Given the description of an element on the screen output the (x, y) to click on. 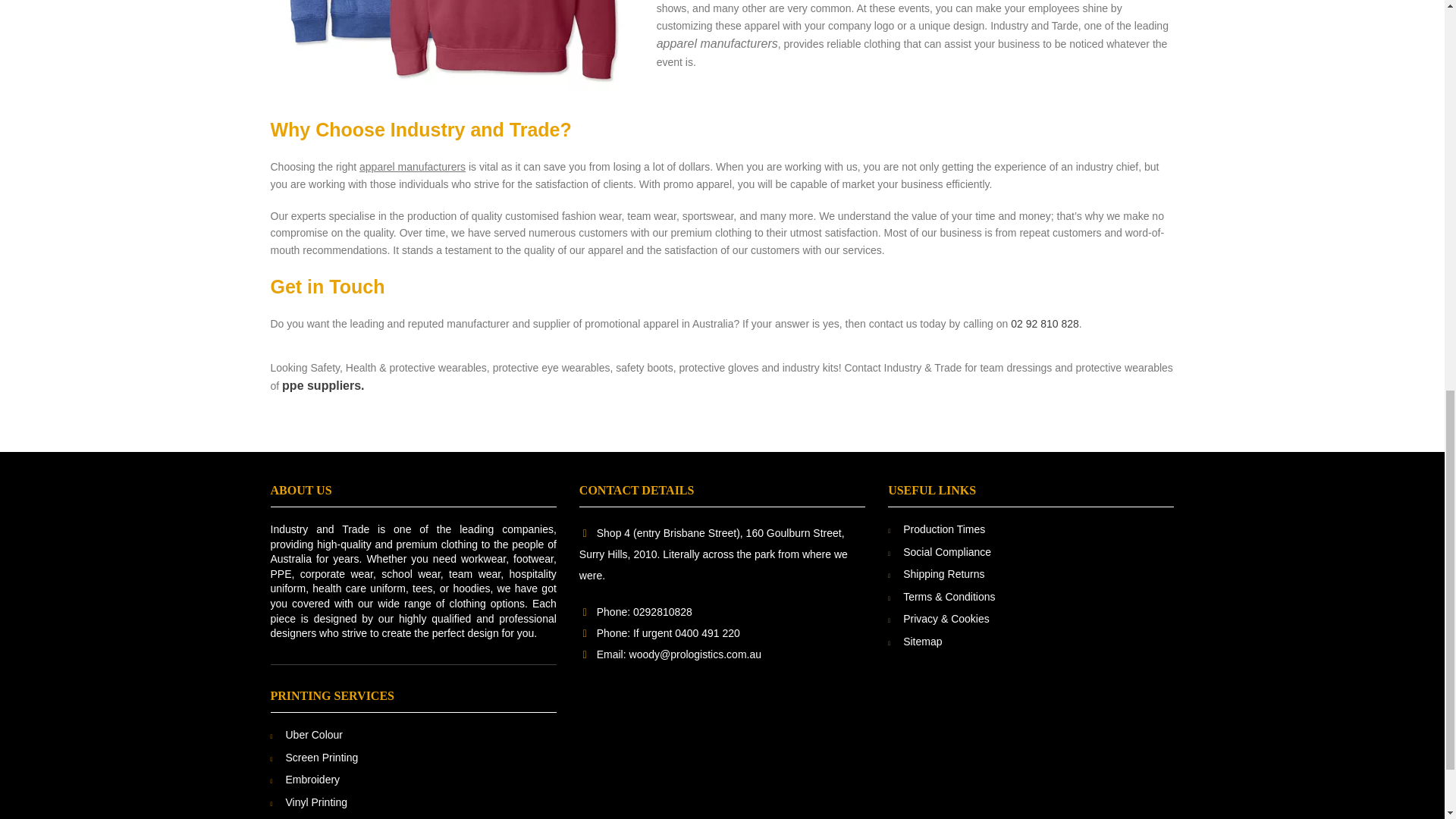
Screen Printing (321, 757)
Social Compliance (946, 551)
Shipping Returns (943, 573)
Uber Colour (313, 734)
Vinyl Printing (315, 802)
Production Times (943, 529)
02 92 810 828 (1044, 323)
ppe suppliers. (323, 386)
Sitemap (922, 641)
Embroidery (312, 779)
